Given the description of an element on the screen output the (x, y) to click on. 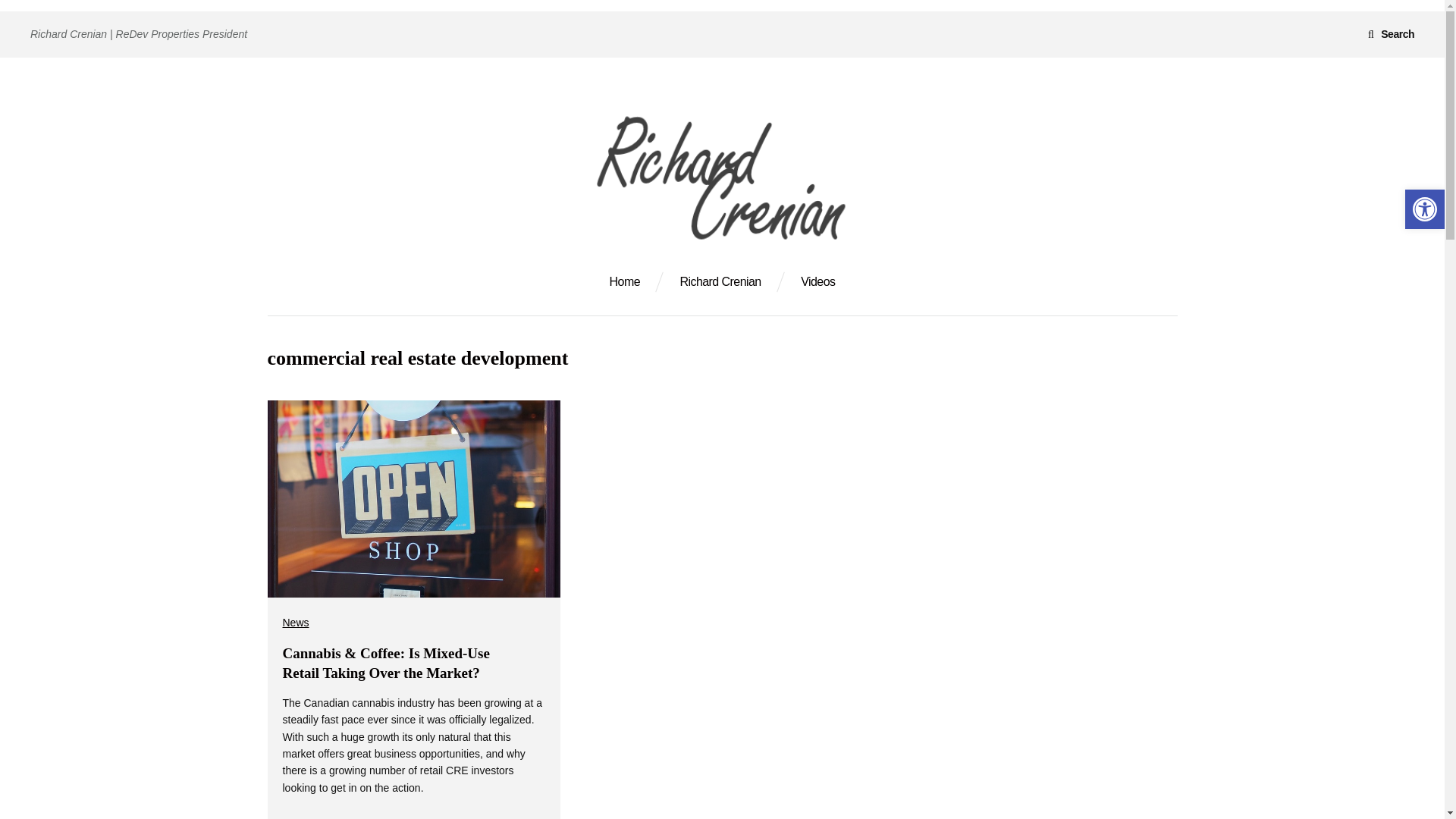
The Official Blog of Richard Crenian (483, 286)
Accessibility Tools (1424, 209)
News (295, 622)
Search (1390, 33)
Home (625, 282)
Richard Crenian (719, 282)
Videos (817, 282)
Search (45, 20)
